Given the description of an element on the screen output the (x, y) to click on. 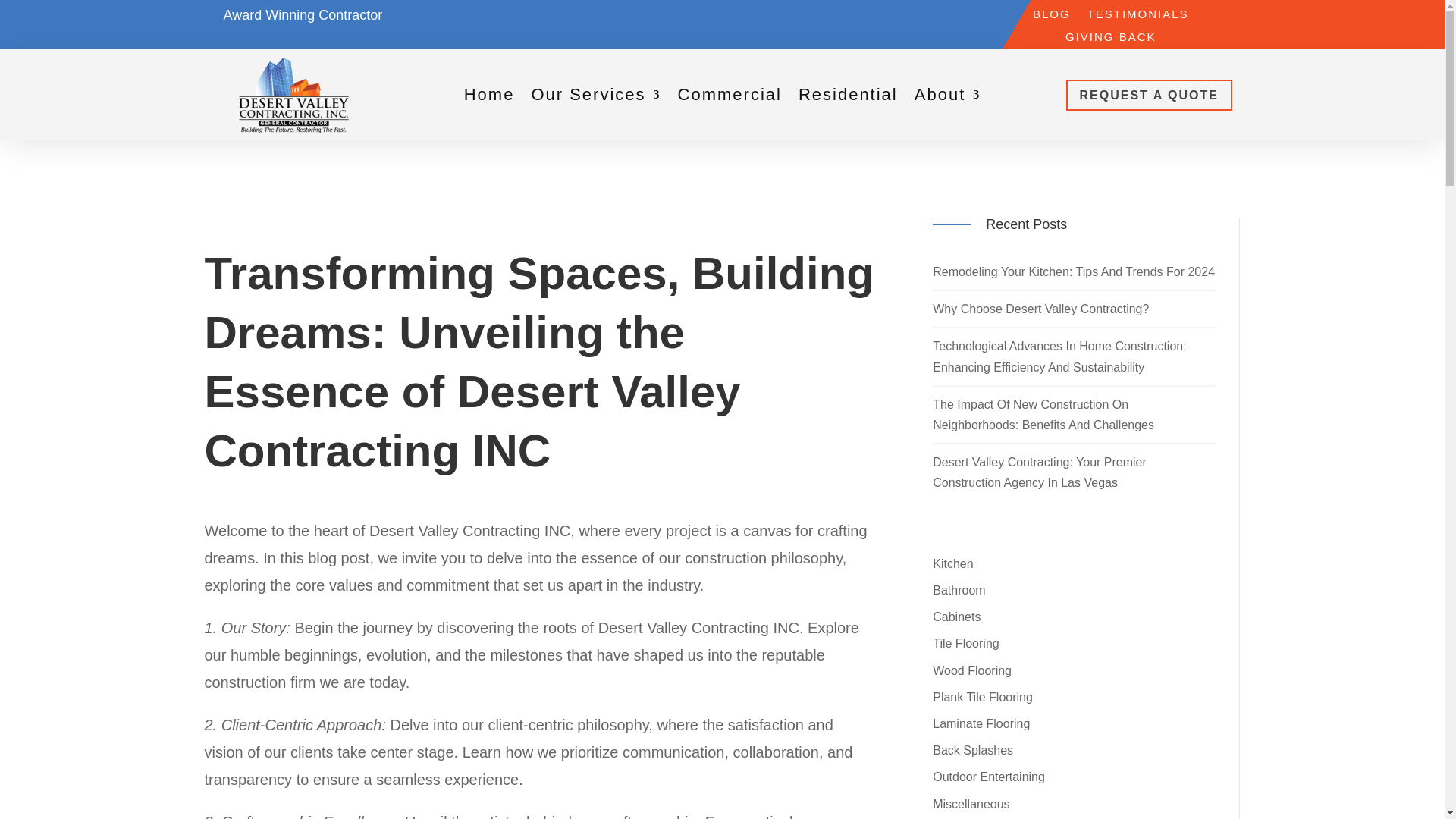
Cabinets (956, 616)
TESTIMONIALS (1138, 17)
deserv (294, 94)
BLOG (1051, 17)
REQUEST A QUOTE (1149, 94)
Kitchen (952, 563)
GIVING BACK (1110, 39)
Our Services (596, 97)
About (947, 97)
Bathroom (959, 590)
Residential (847, 97)
Home (489, 97)
Commercial (729, 97)
